Given the description of an element on the screen output the (x, y) to click on. 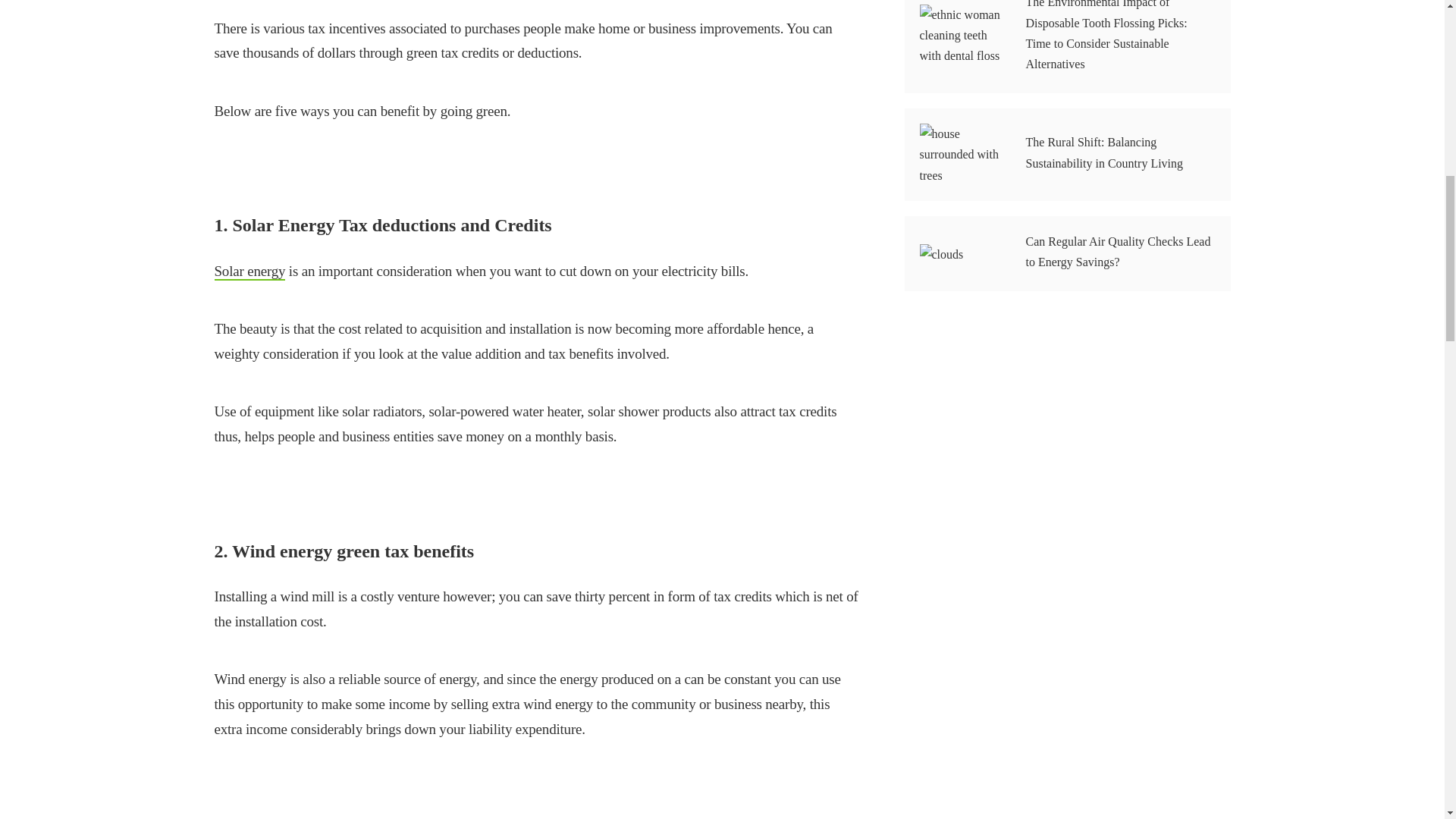
Solar Energy (249, 271)
